Given the description of an element on the screen output the (x, y) to click on. 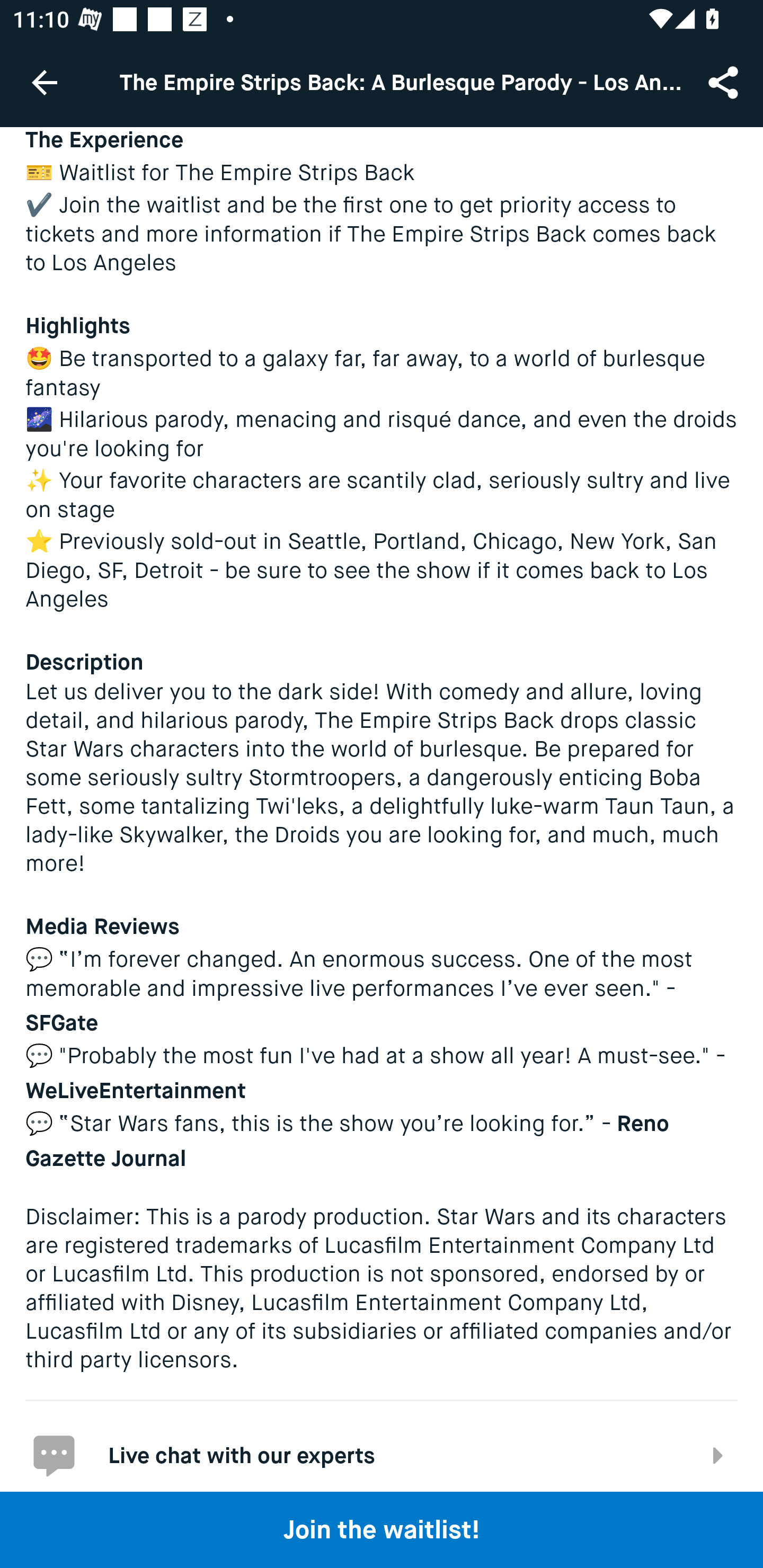
Navigate up (44, 82)
Share (724, 81)
Live chat with our experts (381, 1445)
Join the waitlist! (381, 1529)
